Given the description of an element on the screen output the (x, y) to click on. 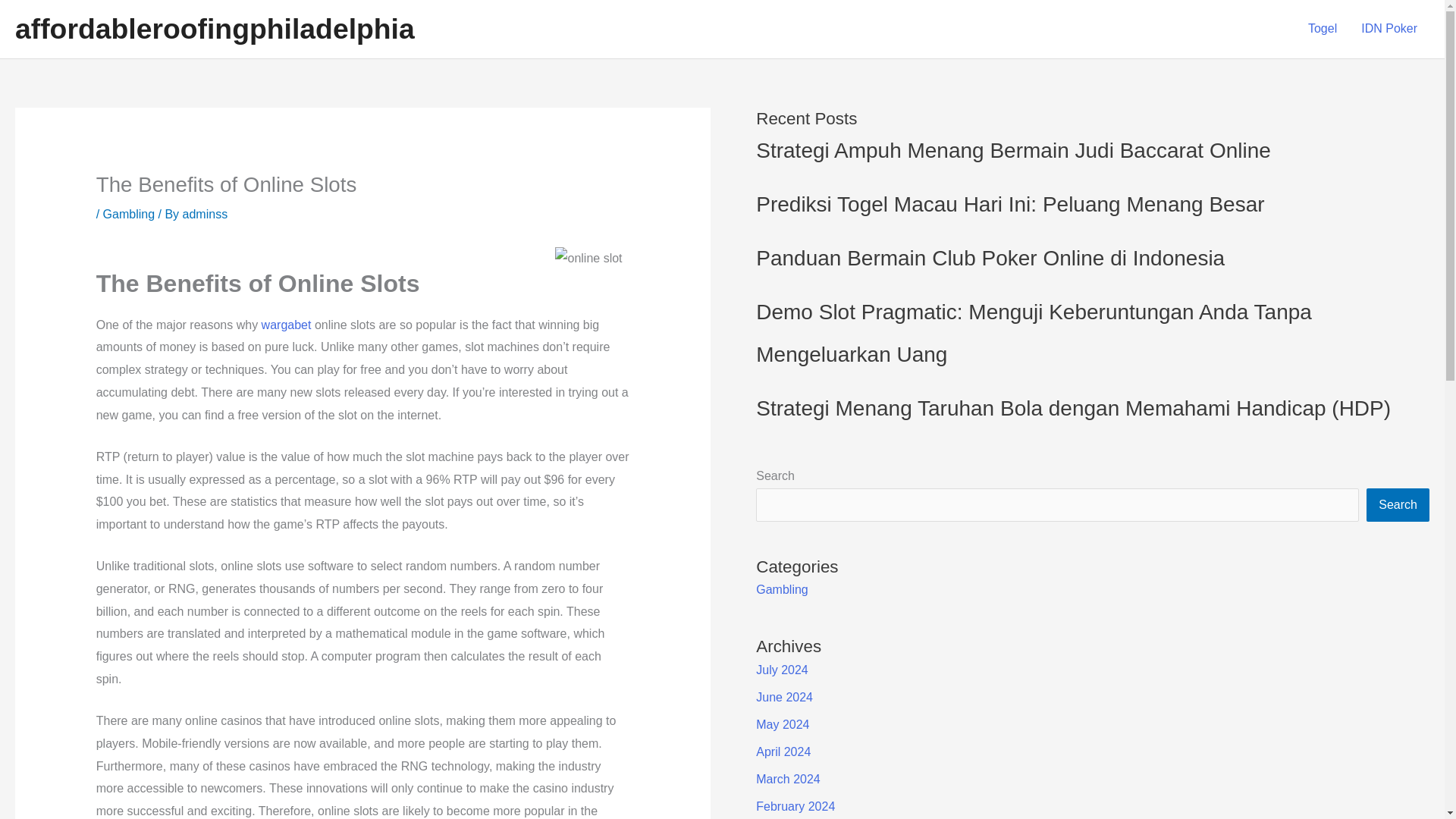
Gambling (128, 214)
April 2024 (782, 751)
February 2024 (794, 806)
wargabet (286, 324)
IDN Poker (1389, 28)
May 2024 (782, 724)
Prediksi Togel Macau Hari Ini: Peluang Menang Besar (1009, 204)
Search (1398, 504)
affordableroofingphiladelphia (214, 29)
June 2024 (783, 697)
March 2024 (788, 779)
July 2024 (781, 669)
Gambling (781, 589)
Panduan Bermain Club Poker Online di Indonesia (989, 258)
Strategi Ampuh Menang Bermain Judi Baccarat Online (1013, 150)
